Given the description of an element on the screen output the (x, y) to click on. 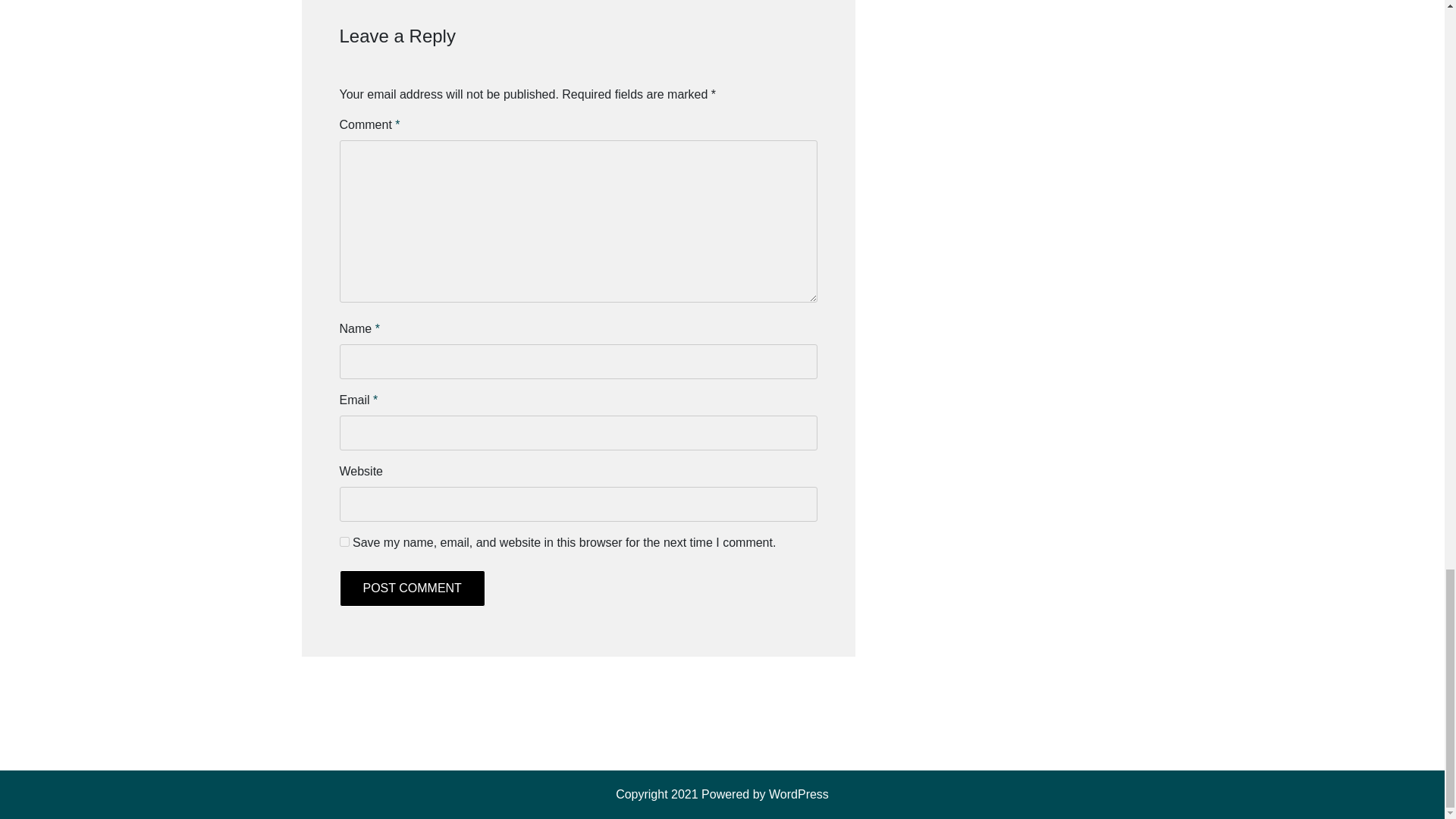
Post Comment (411, 588)
Post Comment (411, 588)
yes (344, 542)
